Given the description of an element on the screen output the (x, y) to click on. 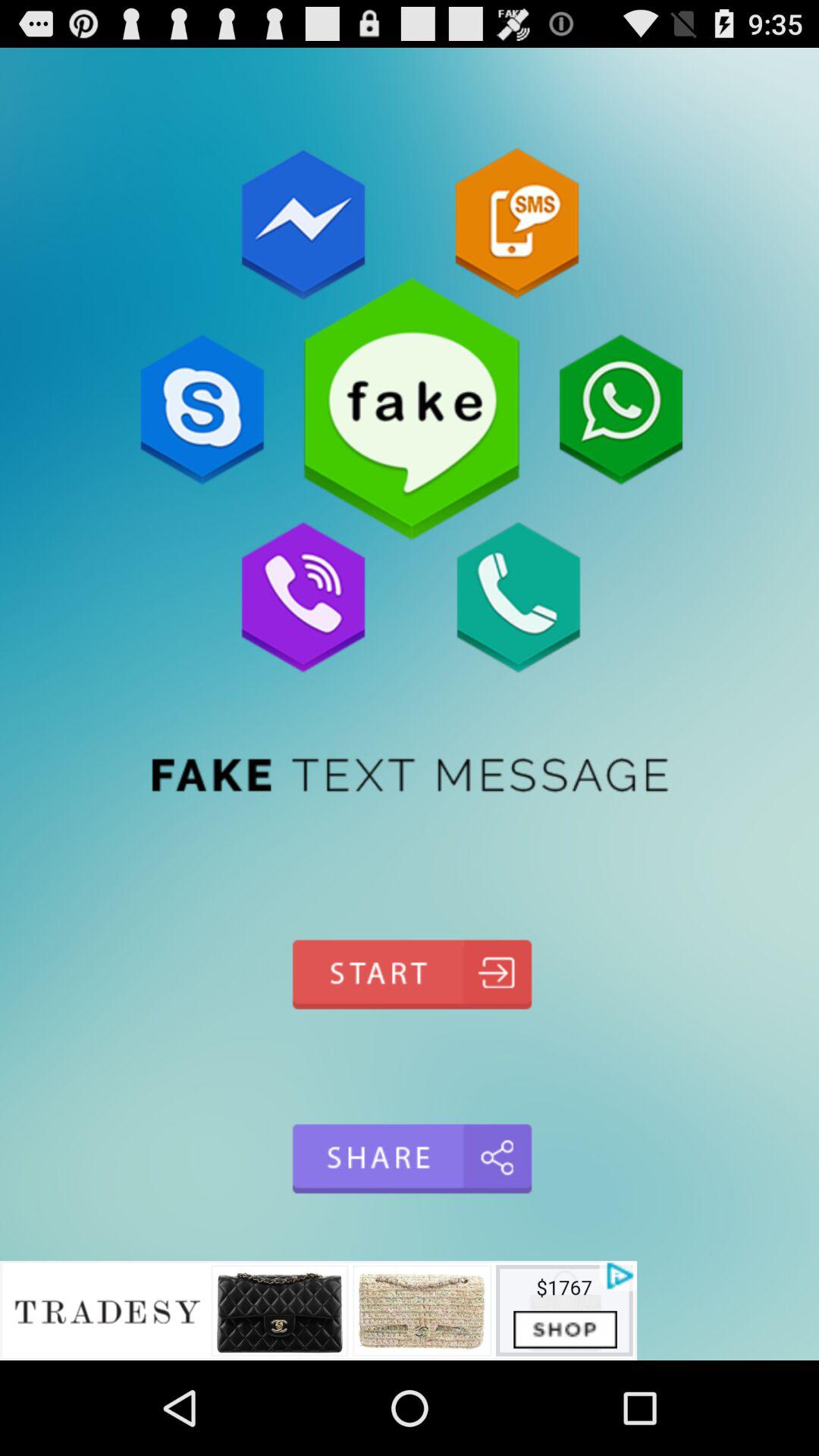
advertisement (318, 1310)
